Given the description of an element on the screen output the (x, y) to click on. 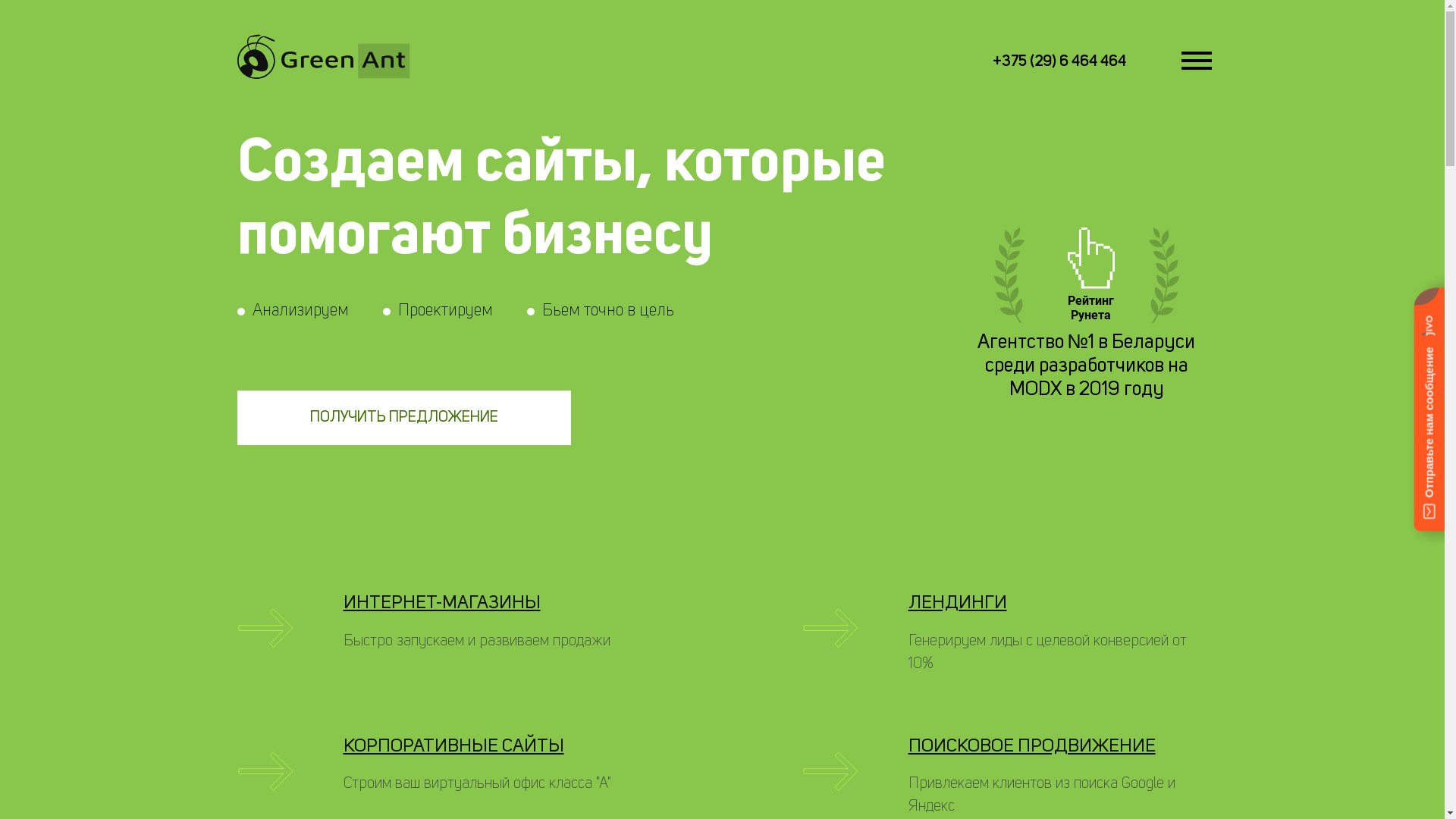
+375 (29) 6 464 464 Element type: text (1059, 61)
